Given the description of an element on the screen output the (x, y) to click on. 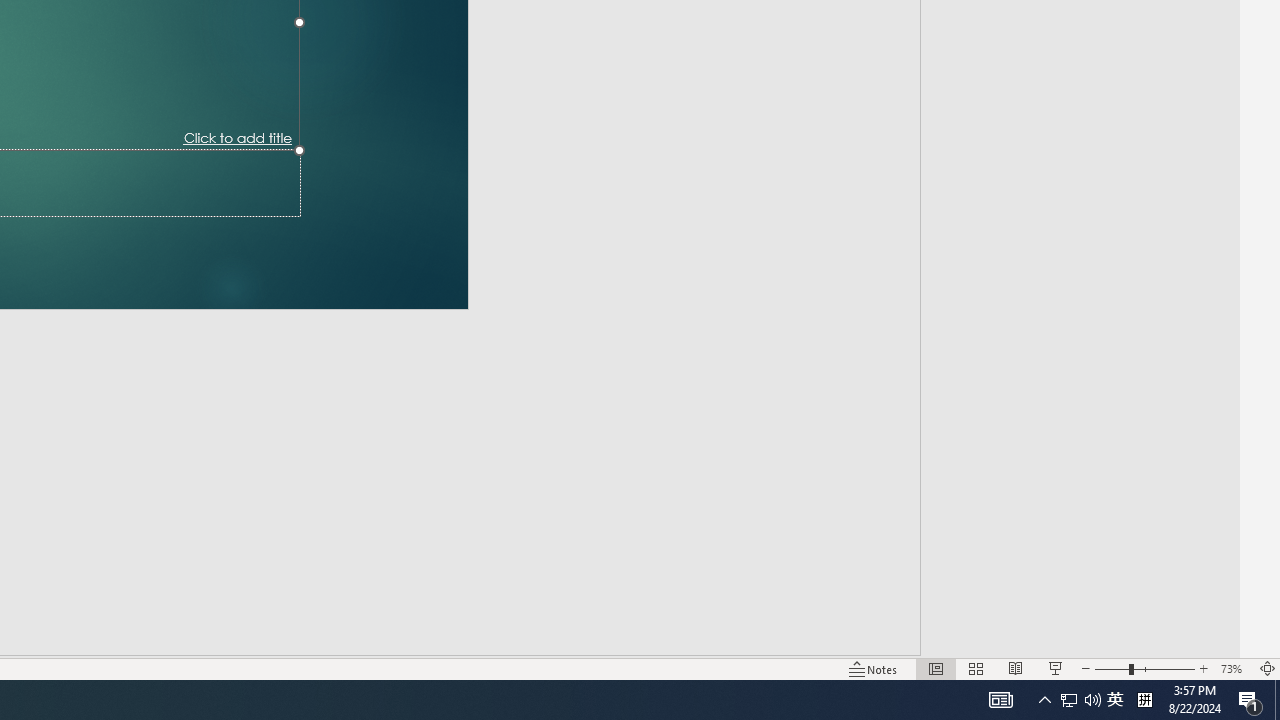
Tray Input Indicator - Chinese (Simplified, China) (1144, 699)
Zoom In (1204, 668)
Zoom 73% (1234, 668)
Slide Sorter (975, 668)
Reading View (1015, 668)
